Given the description of an element on the screen output the (x, y) to click on. 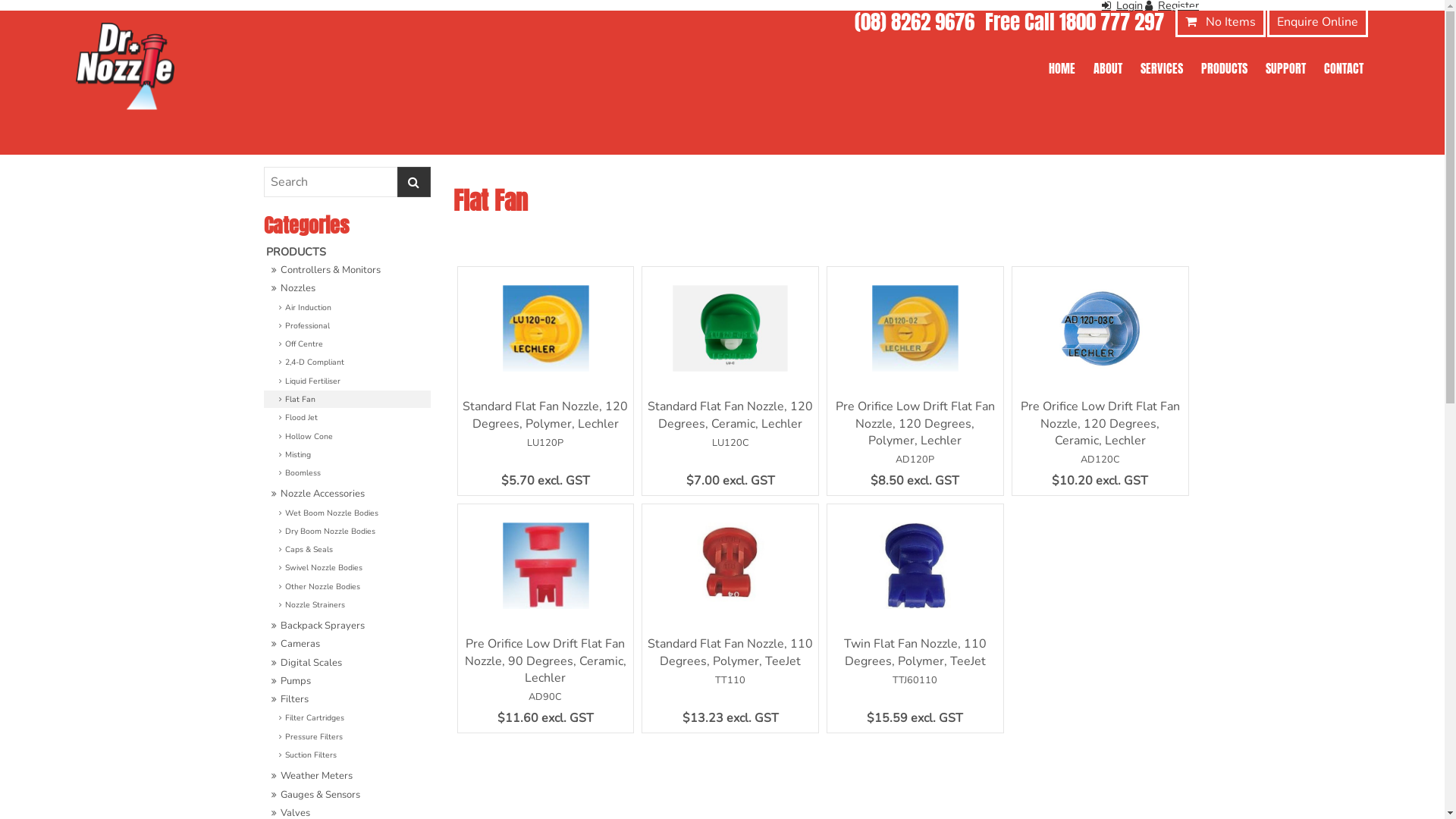
Hollow Cone Element type: text (346, 436)
Suction Filters Element type: text (346, 754)
Flat Fan Element type: text (346, 398)
Air Induction Element type: text (346, 307)
Cameras Element type: text (346, 643)
Liquid Fertiliser Element type: text (346, 380)
Controllers & Monitors Element type: text (346, 270)
PRODUCTS Element type: text (1224, 68)
Wet Boom Nozzle Bodies Element type: text (346, 512)
CONTACT Element type: text (1343, 68)
Flood Jet Element type: text (346, 417)
Enquire Online Element type: text (1317, 22)
HOME Element type: text (1061, 68)
Nozzles Element type: text (346, 288)
Pumps Element type: text (346, 681)
ABOUT Element type: text (1107, 68)
SUPPORT Element type: text (1285, 68)
Digital Scales Element type: text (346, 662)
Nozzle Strainers Element type: text (346, 604)
Professional Element type: text (346, 325)
Swivel Nozzle Bodies Element type: text (346, 567)
Boomless Element type: text (346, 472)
Caps & Seals Element type: text (346, 549)
Nozzle Accessories Element type: text (346, 493)
PRODUCTS Element type: text (346, 251)
Gauges & Sensors Element type: text (346, 794)
2,4-D Compliant Element type: text (346, 361)
SERVICES Element type: text (1161, 68)
Dry Boom Nozzle Bodies Element type: text (346, 530)
No Items Element type: text (1220, 22)
Weather Meters Element type: text (346, 775)
Pressure Filters Element type: text (346, 736)
Filter Cartridges Element type: text (346, 717)
Other Nozzle Bodies Element type: text (346, 586)
Off Centre Element type: text (346, 343)
Filters Element type: text (346, 699)
Misting Element type: text (346, 454)
Backpack Sprayers Element type: text (346, 625)
